Given the description of an element on the screen output the (x, y) to click on. 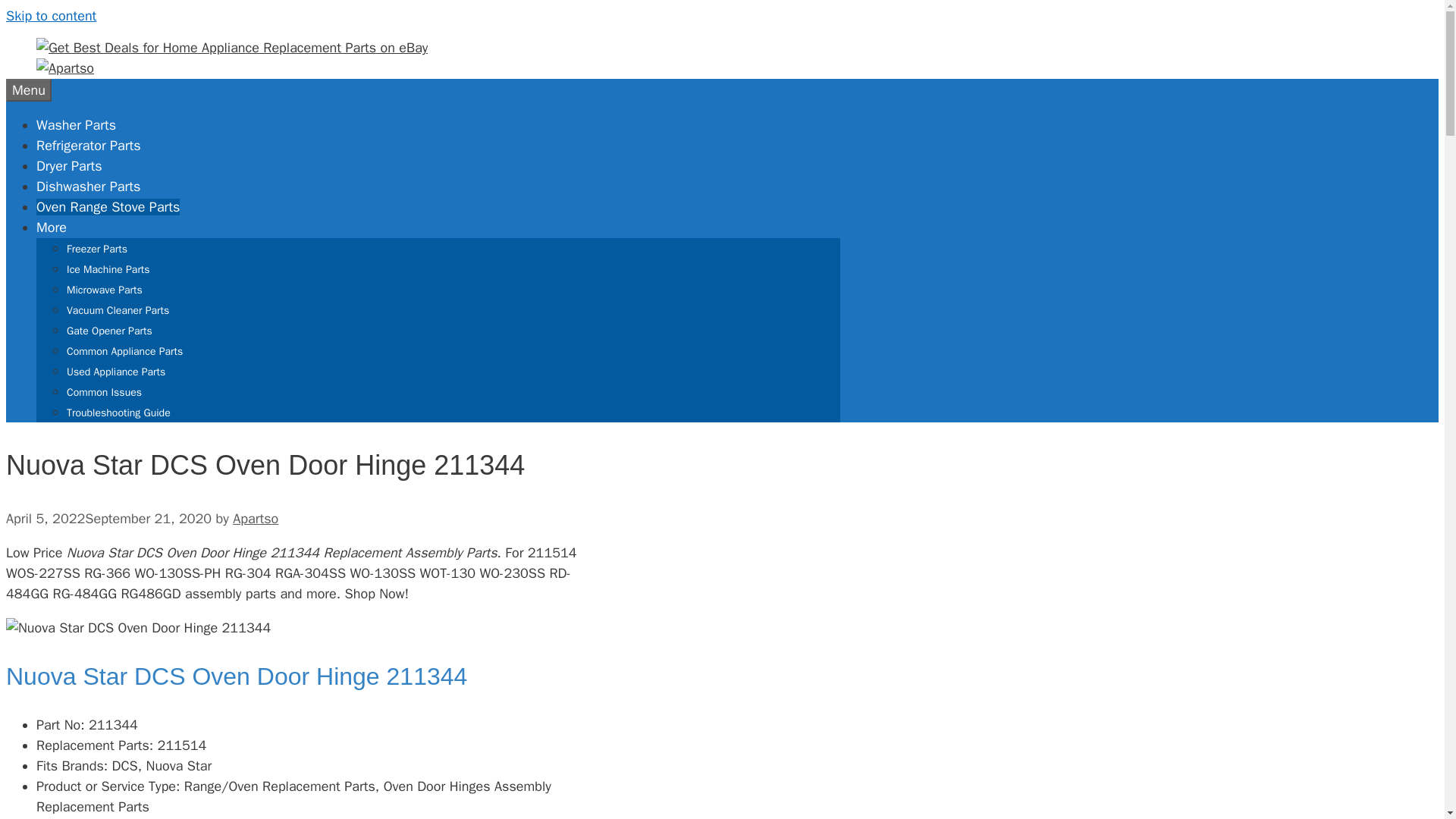
Skip to content (50, 15)
Dryer Parts (68, 166)
Apartso (255, 518)
Microwave Parts (104, 289)
Common Issues (103, 391)
Skip to content (50, 15)
Dishwasher Parts (87, 186)
Menu (27, 89)
Used Appliance Parts (115, 371)
Gate Opener Parts (109, 330)
